Given the description of an element on the screen output the (x, y) to click on. 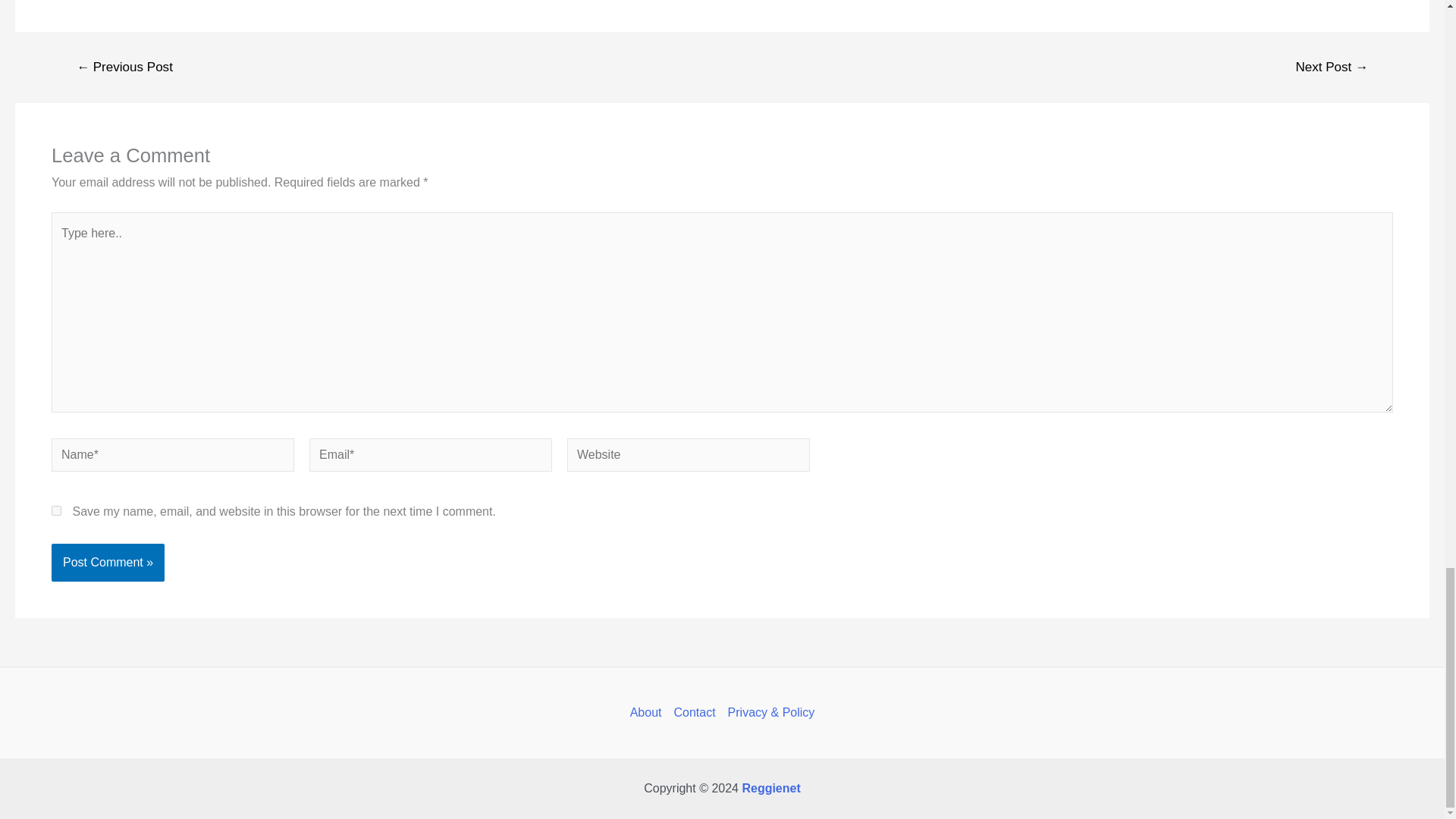
Contact (693, 712)
About (649, 712)
yes (55, 510)
